Given the description of an element on the screen output the (x, y) to click on. 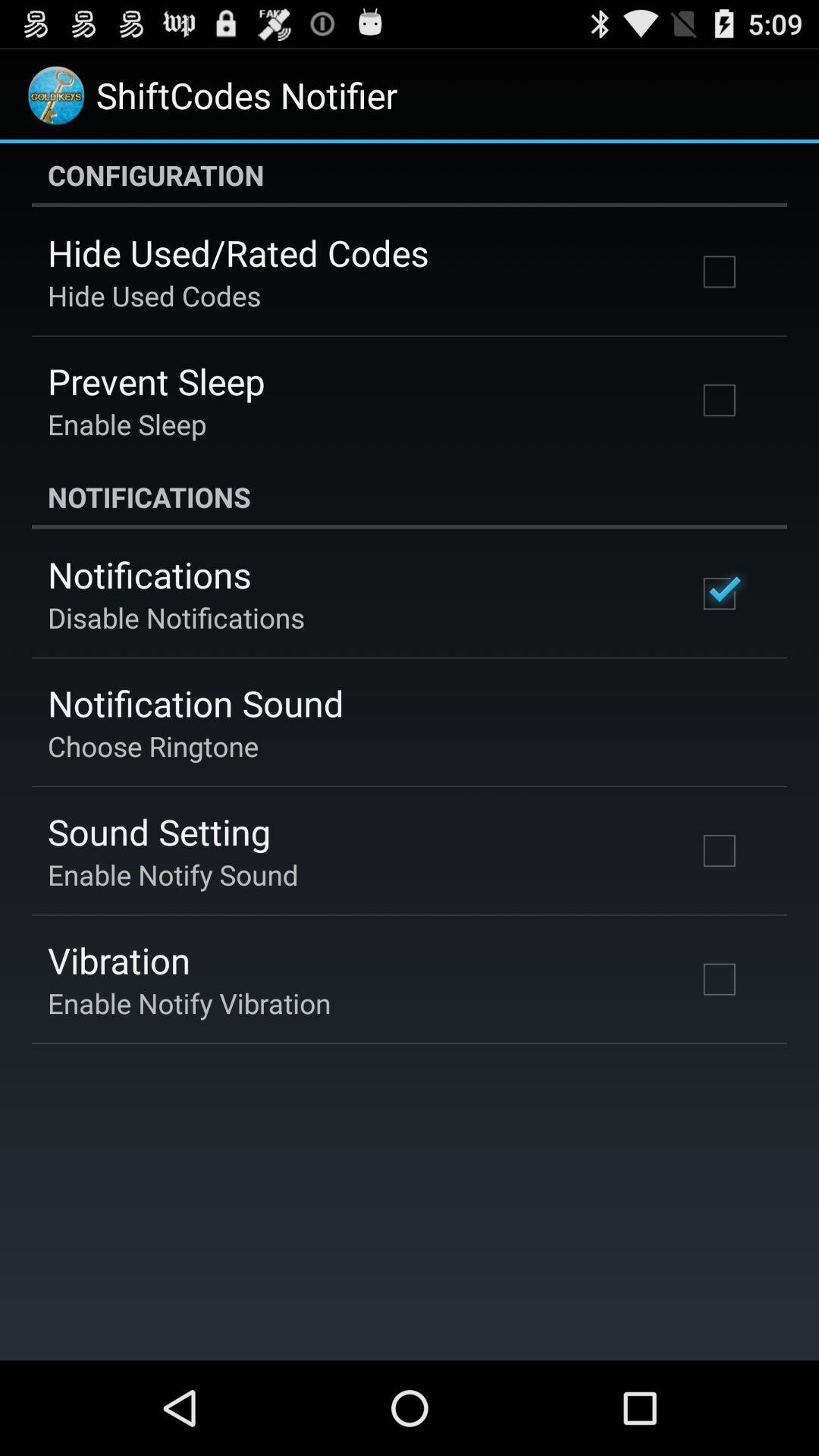
click item above the notifications icon (126, 424)
